Given the description of an element on the screen output the (x, y) to click on. 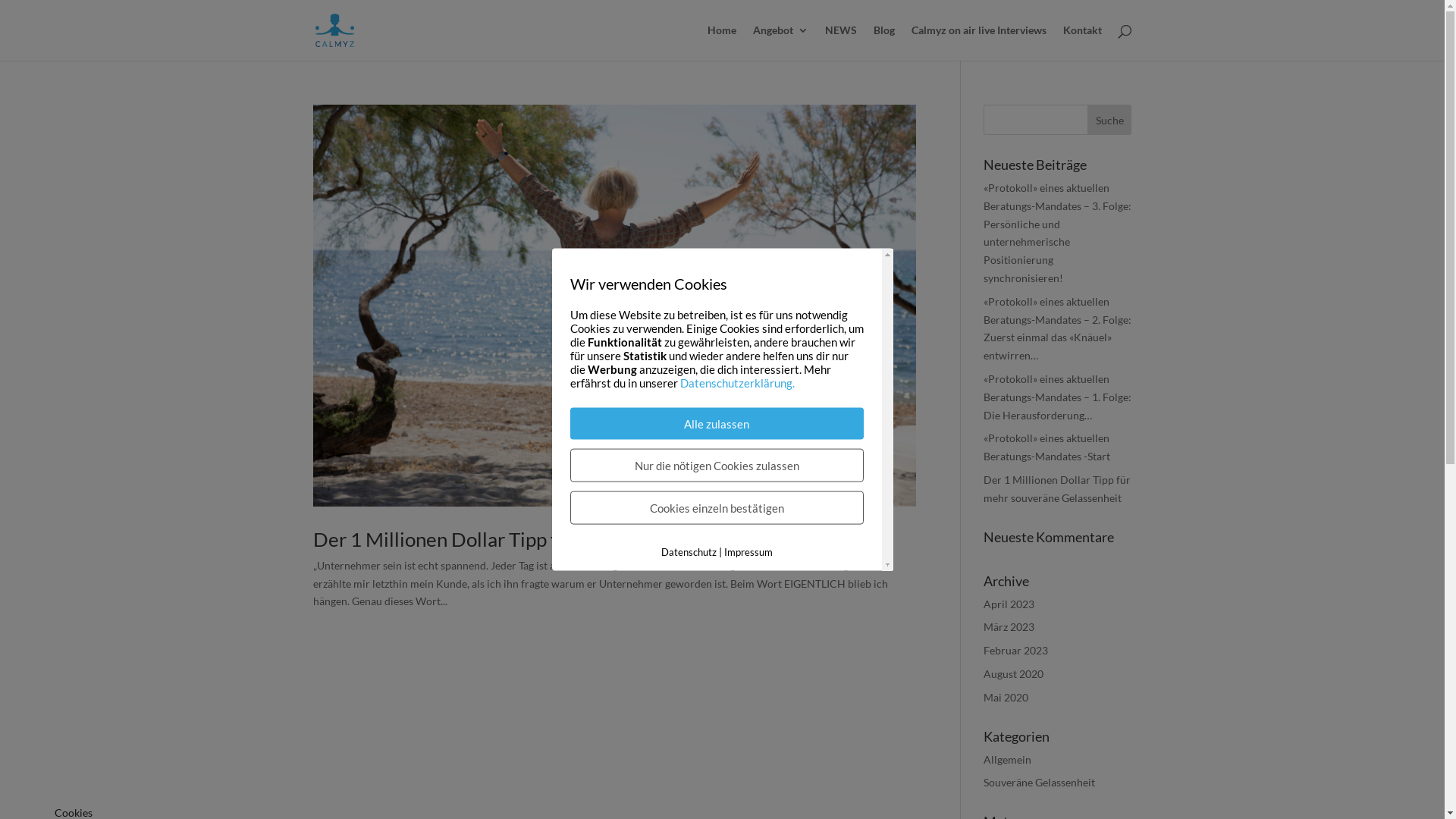
Angebot Element type: text (779, 42)
Februar 2023 Element type: text (1015, 649)
Impressum Element type: text (747, 552)
NEWS Element type: text (840, 42)
Calmyz on air live Interviews Element type: text (978, 42)
Home Element type: text (720, 42)
Blog Element type: text (883, 42)
Datenschutz Element type: text (688, 552)
Kontakt Element type: text (1082, 42)
August 2020 Element type: text (1013, 673)
Suche Element type: text (1109, 119)
Mai 2020 Element type: text (1005, 696)
Alle zulassen Element type: text (716, 423)
April 2023 Element type: text (1008, 603)
Allgemein Element type: text (1007, 759)
